Given the description of an element on the screen output the (x, y) to click on. 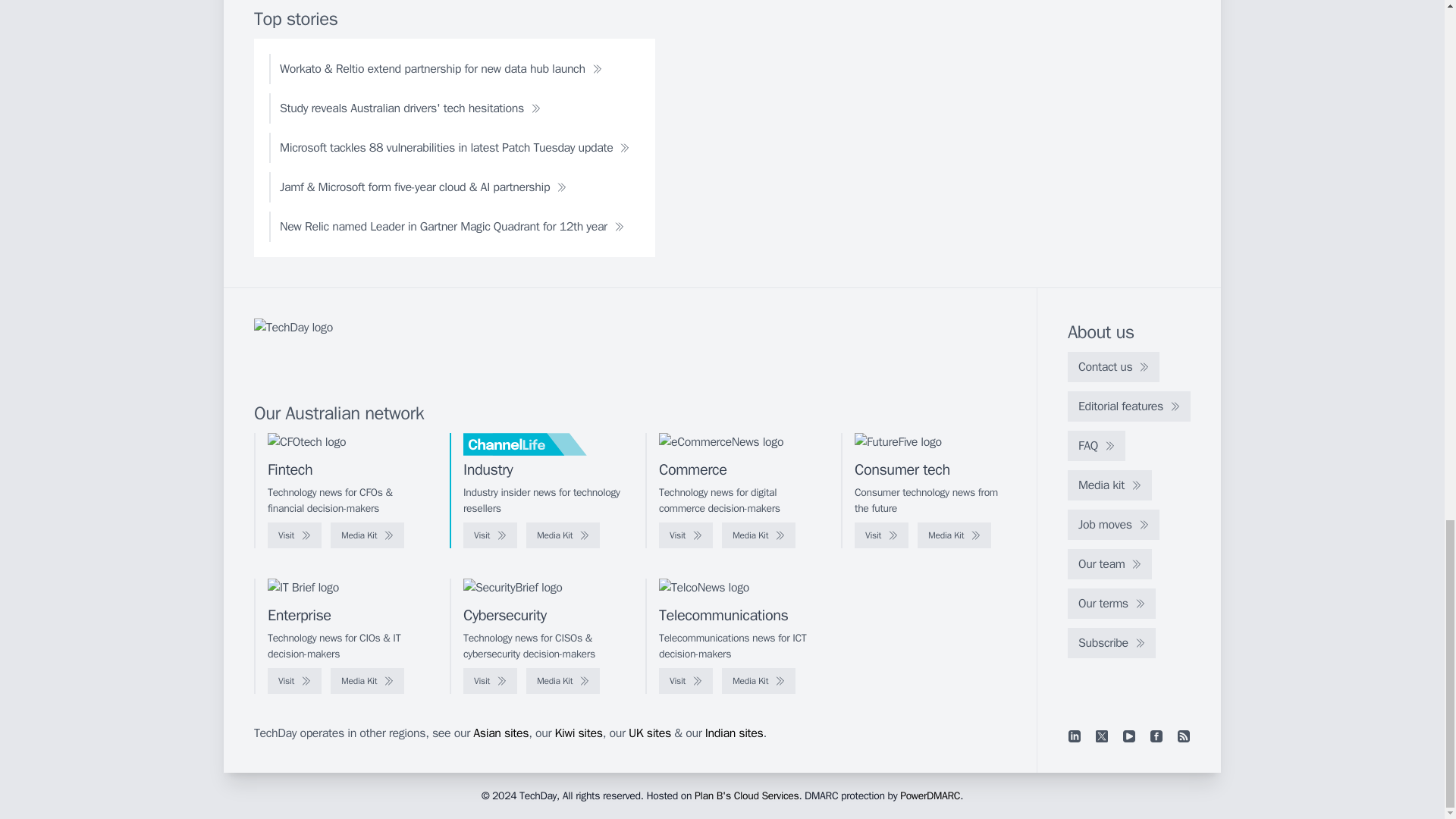
Media Kit (954, 534)
Study reveals Australian drivers' tech hesitations (410, 108)
Visit (294, 534)
Visit (881, 534)
Media Kit (562, 534)
Media Kit (367, 534)
Visit (686, 534)
Visit (489, 534)
